Given the description of an element on the screen output the (x, y) to click on. 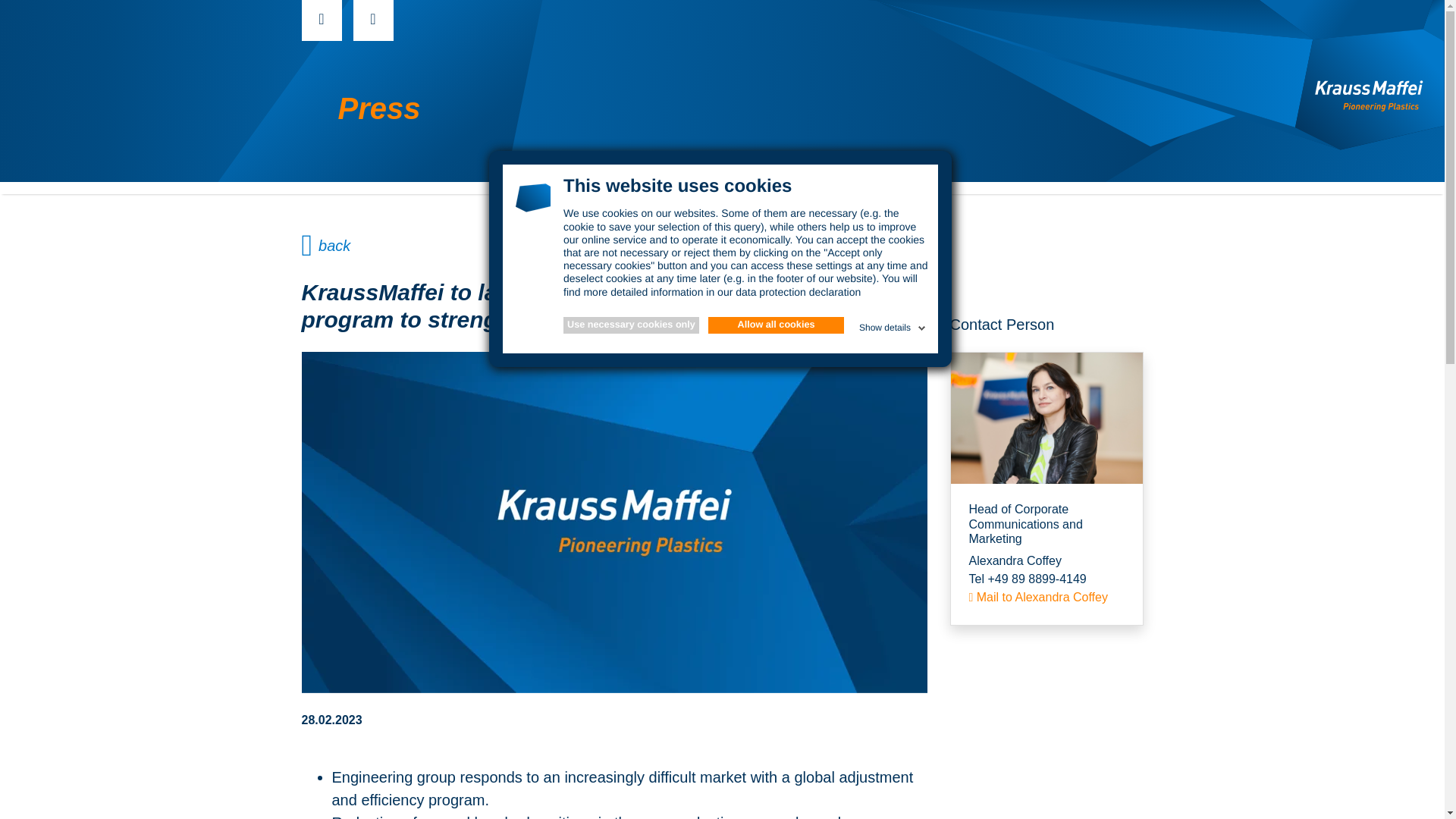
Show details (893, 324)
Use necessary cookies only (630, 324)
Allow all cookies (775, 324)
